Given the description of an element on the screen output the (x, y) to click on. 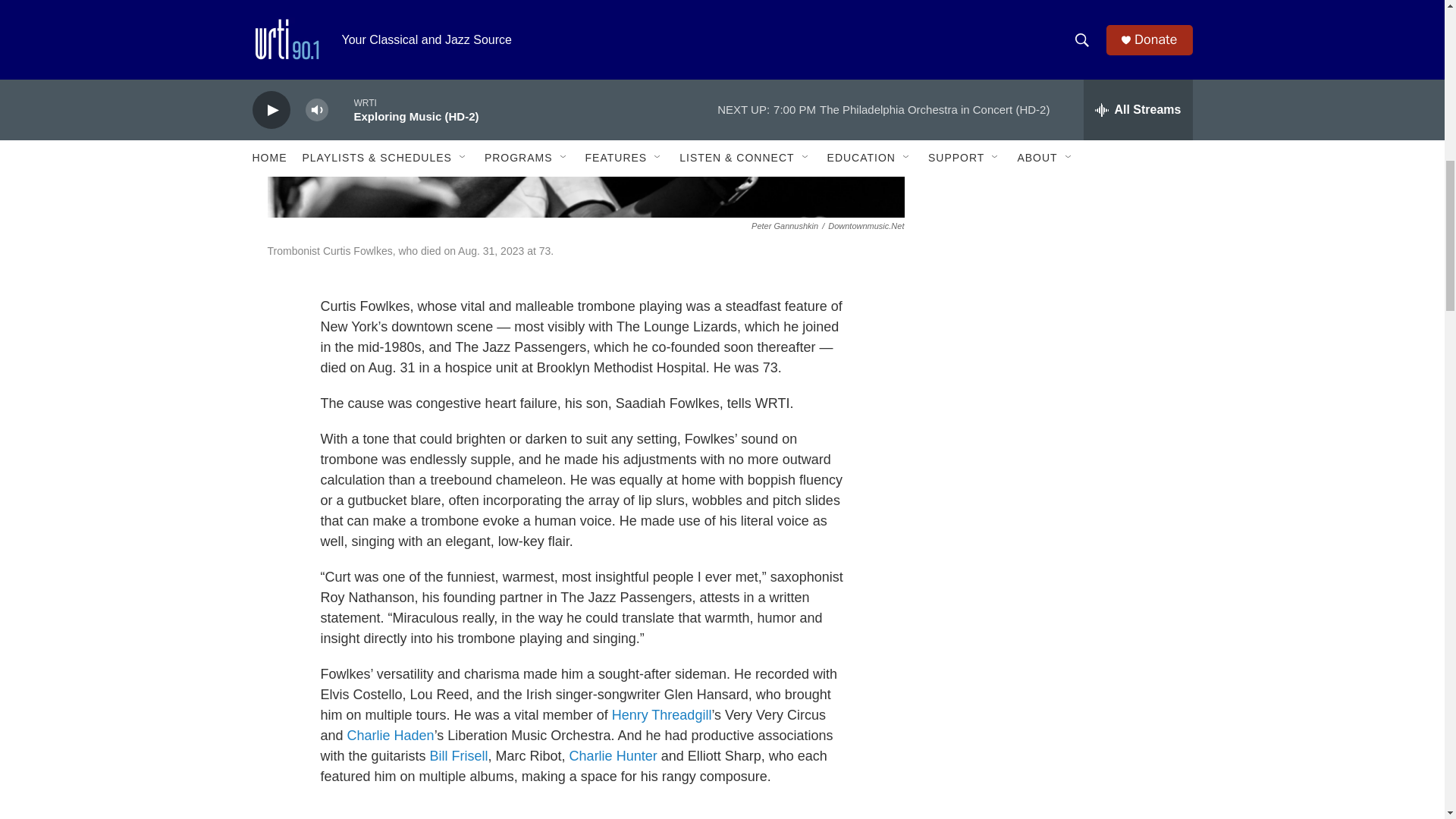
3rd party ad content (1062, 85)
3rd party ad content (1062, 280)
3rd party ad content (1062, 486)
